Given the description of an element on the screen output the (x, y) to click on. 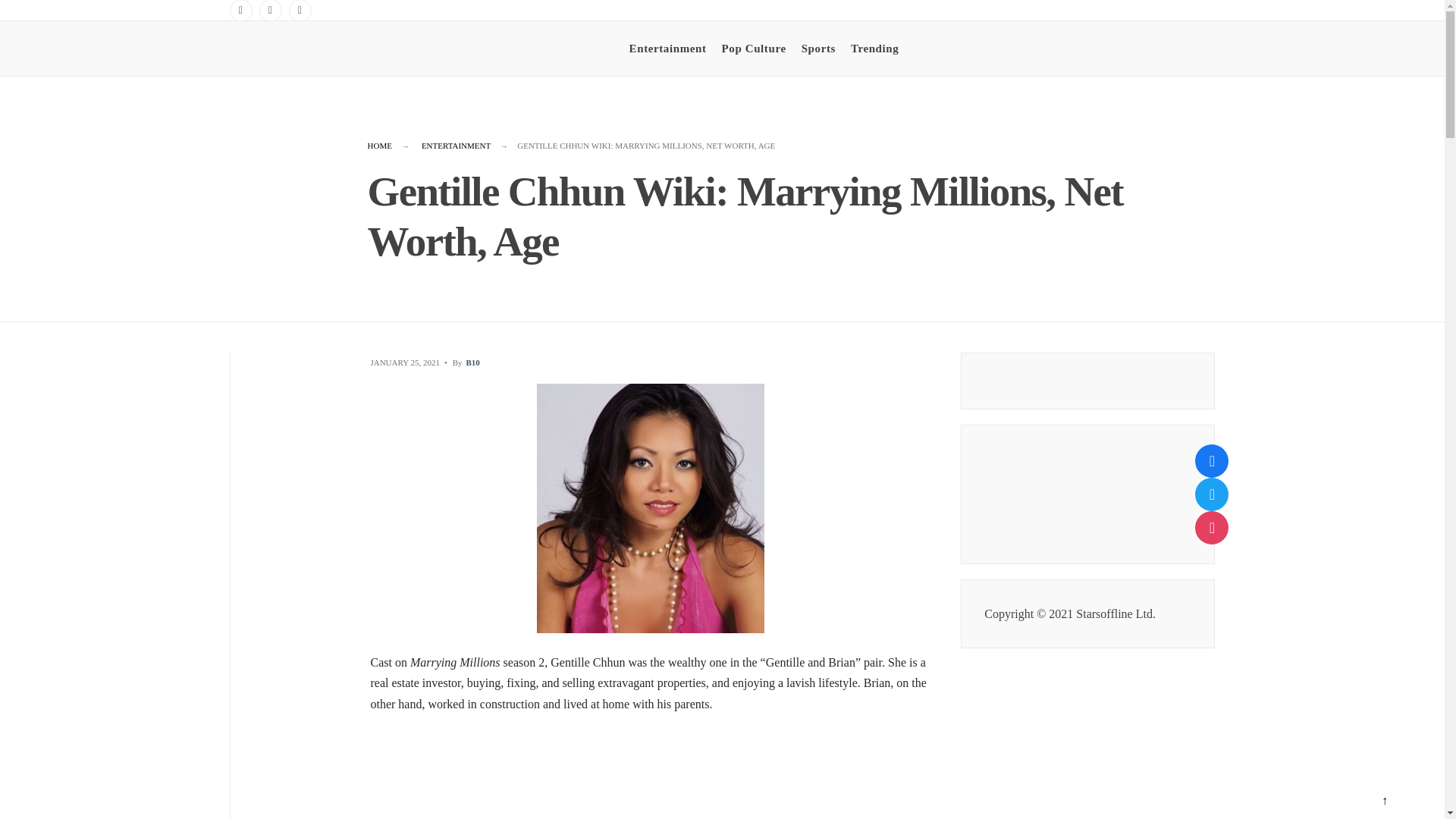
Trending (874, 48)
Sports (818, 48)
B10 (472, 361)
Entertainment (667, 48)
Pinterest (299, 10)
Pop Culture (754, 48)
Posts by B10 (472, 361)
ENTERTAINMENT (456, 144)
Scroll to top (1384, 801)
HOME (378, 144)
